Given the description of an element on the screen output the (x, y) to click on. 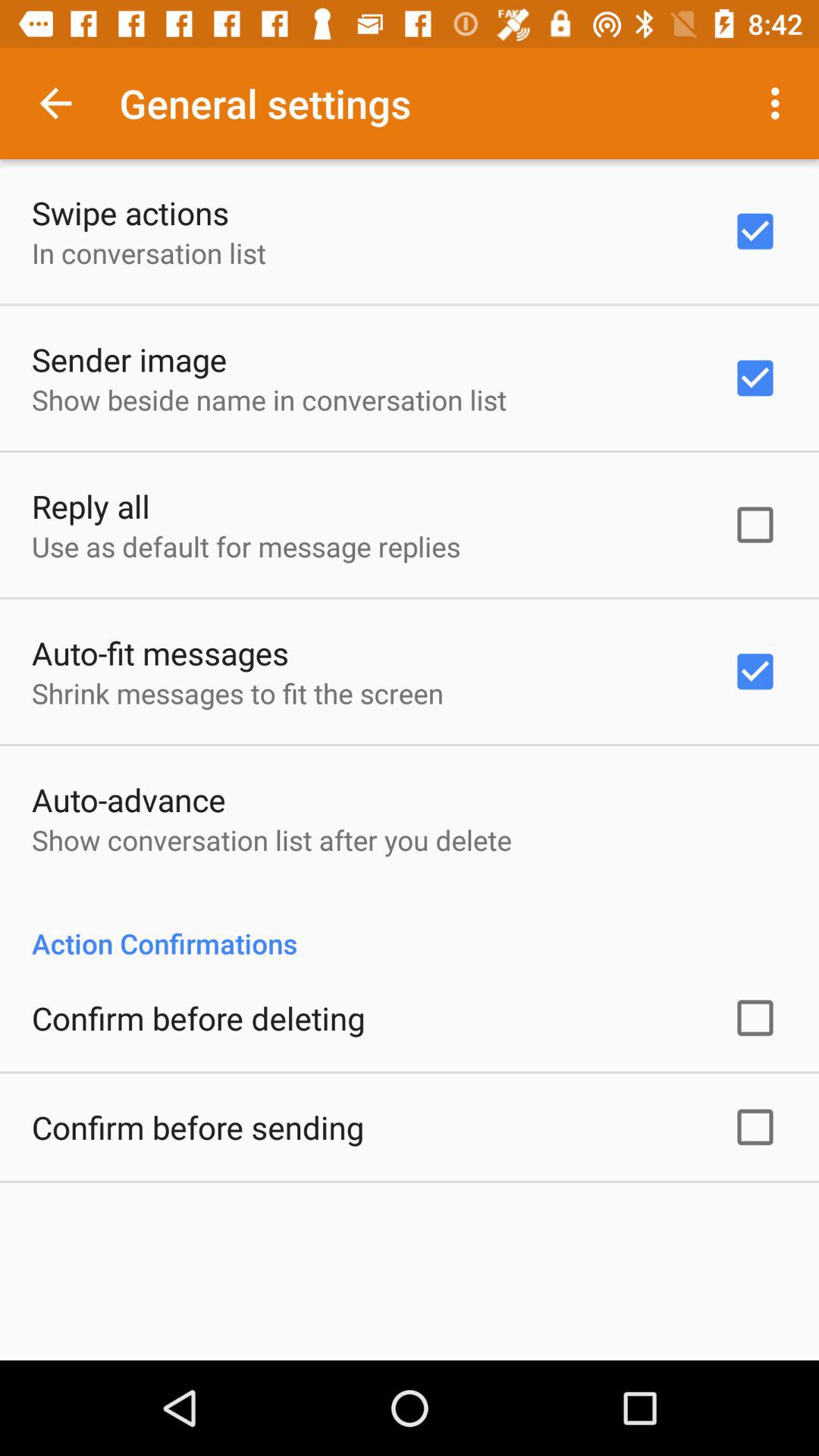
turn off app at the center (409, 927)
